Given the description of an element on the screen output the (x, y) to click on. 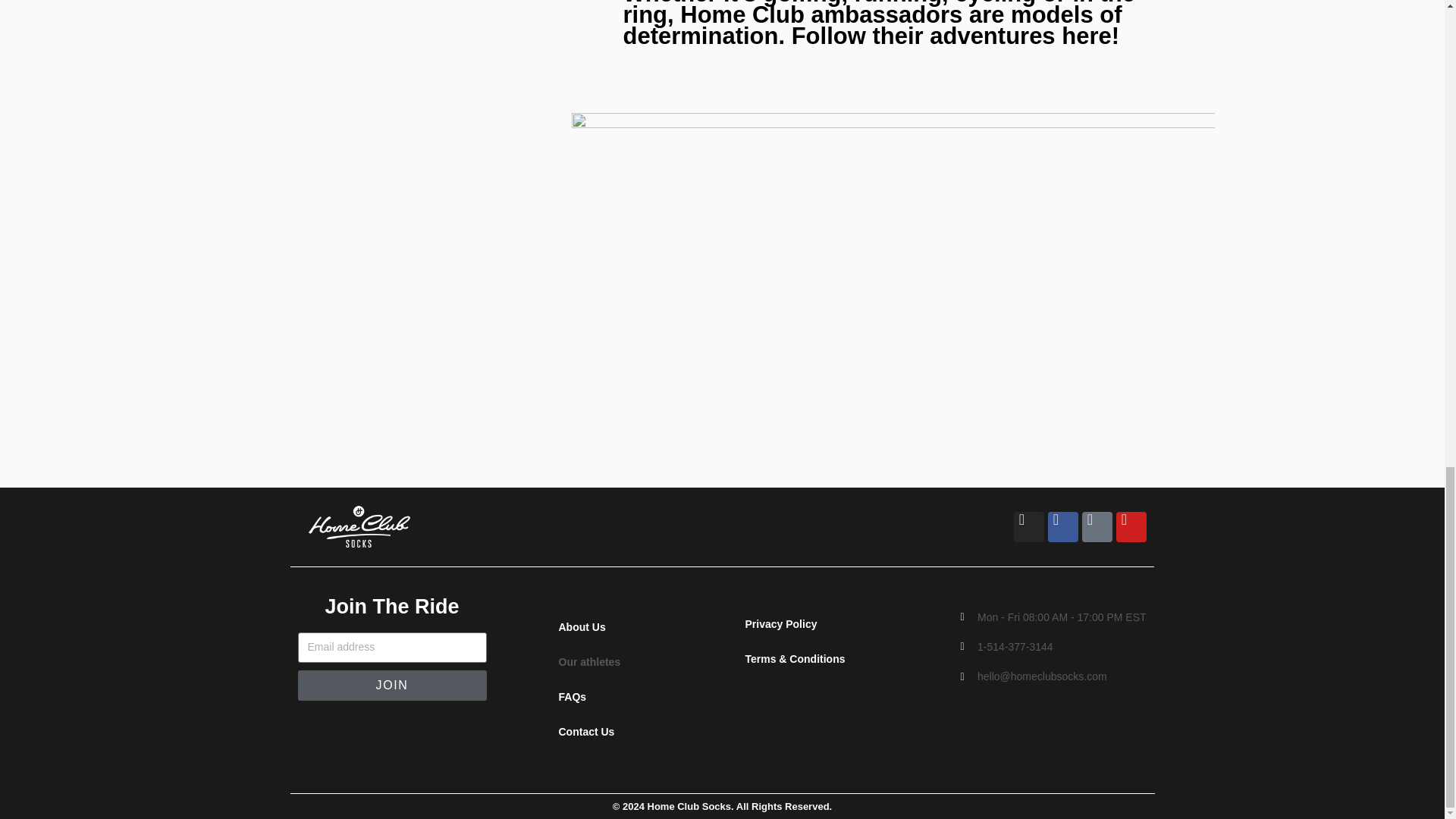
JOIN (391, 685)
Privacy Policy (829, 623)
1-514-377-3144 (1053, 647)
FAQs (628, 696)
Contact Us (628, 731)
Our athletes (628, 661)
About Us (628, 626)
